Given the description of an element on the screen output the (x, y) to click on. 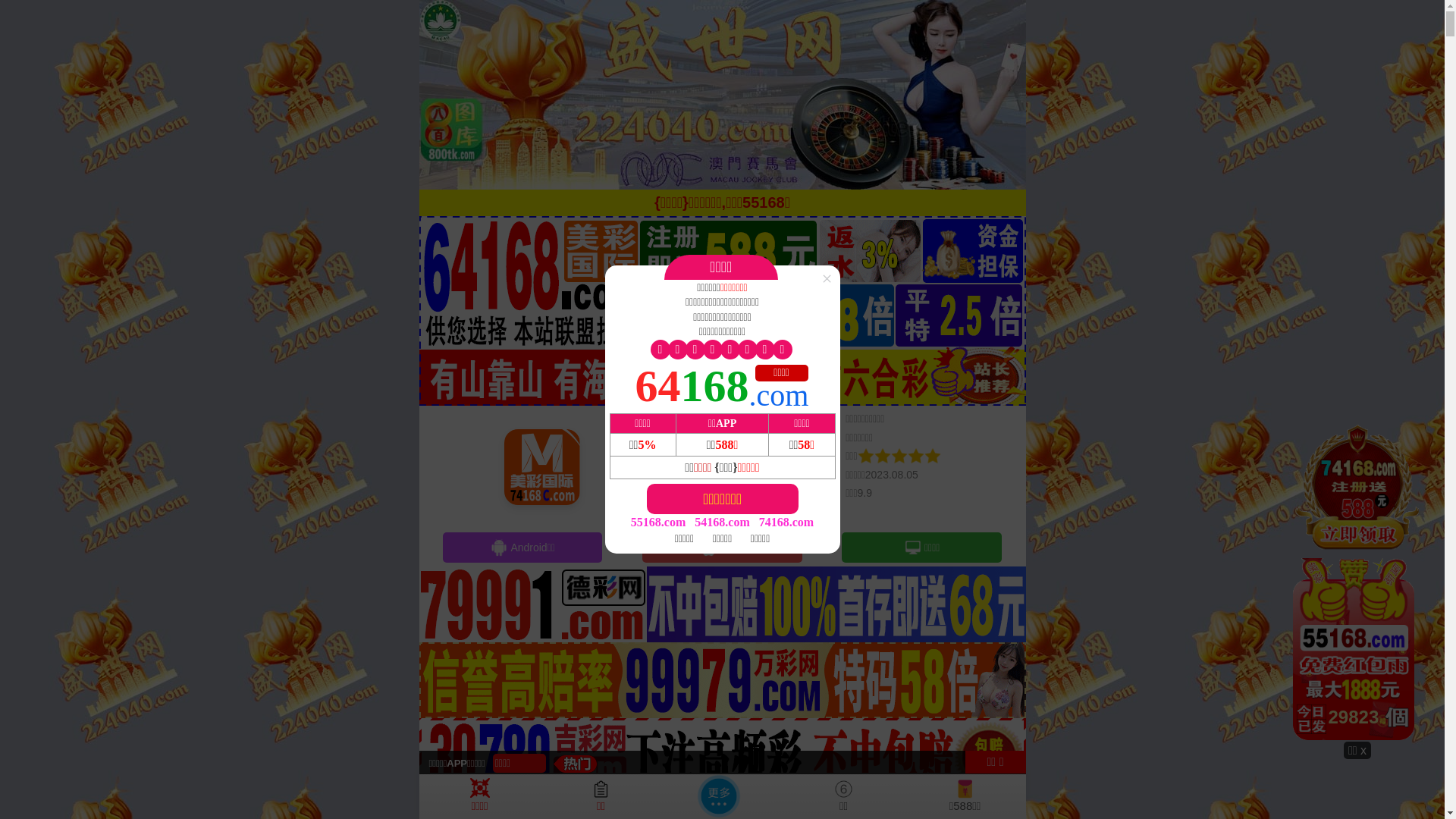
30059 Element type: text (1356, 582)
